Given the description of an element on the screen output the (x, y) to click on. 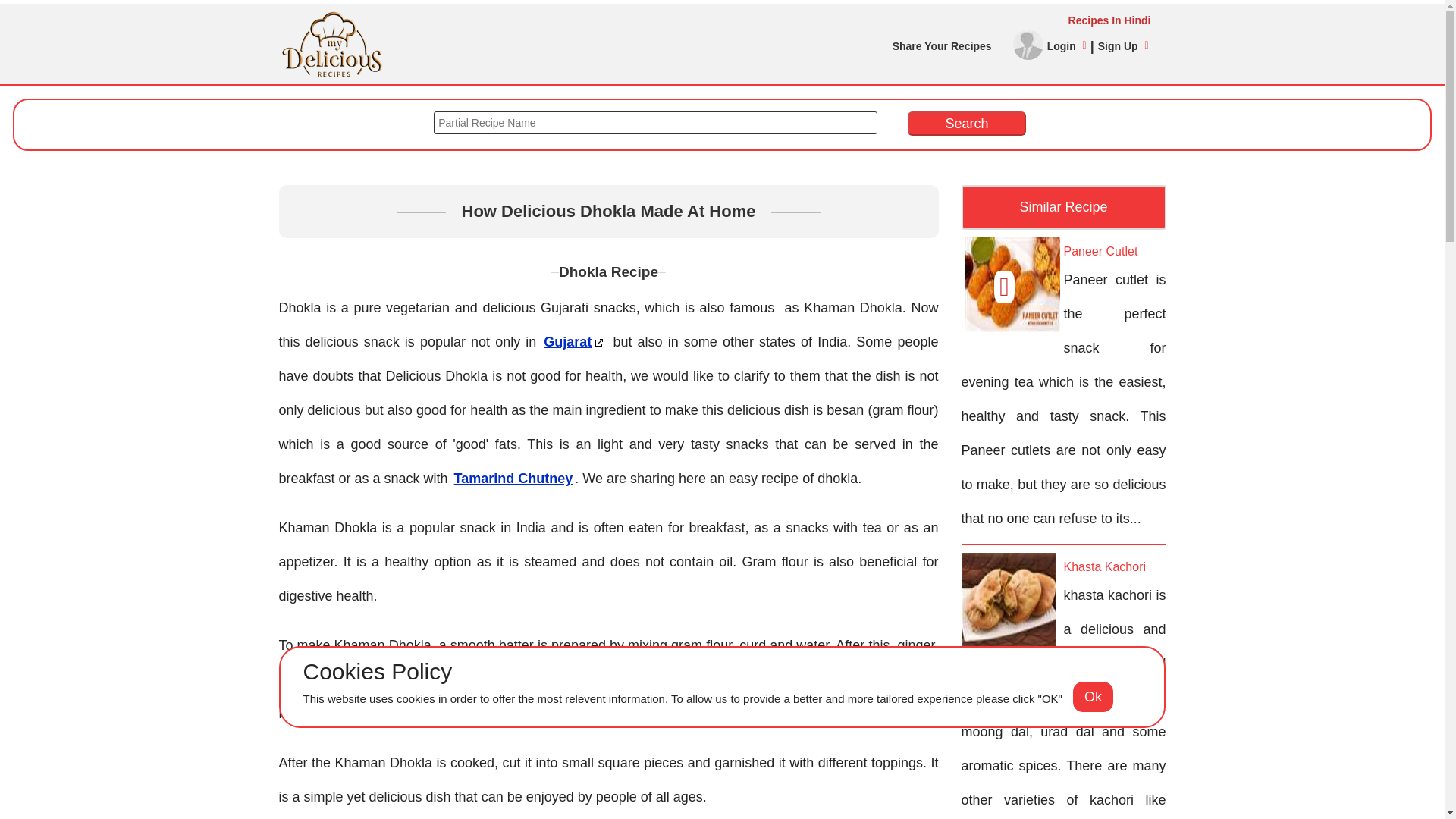
MyDelicious-Recipes.com (332, 16)
Gujarat (574, 342)
Search (966, 123)
Tamarind Chutney (513, 478)
MyDelicious-Recipes.com (332, 43)
Gujarat (574, 342)
Share Your Recipes (941, 46)
Sign Up (1122, 46)
Recipes In Hindi (715, 20)
Login (1066, 46)
Recipes In Hindi (715, 20)
Share Your Recipes (941, 46)
Tamarind Chutney (513, 478)
